Given the description of an element on the screen output the (x, y) to click on. 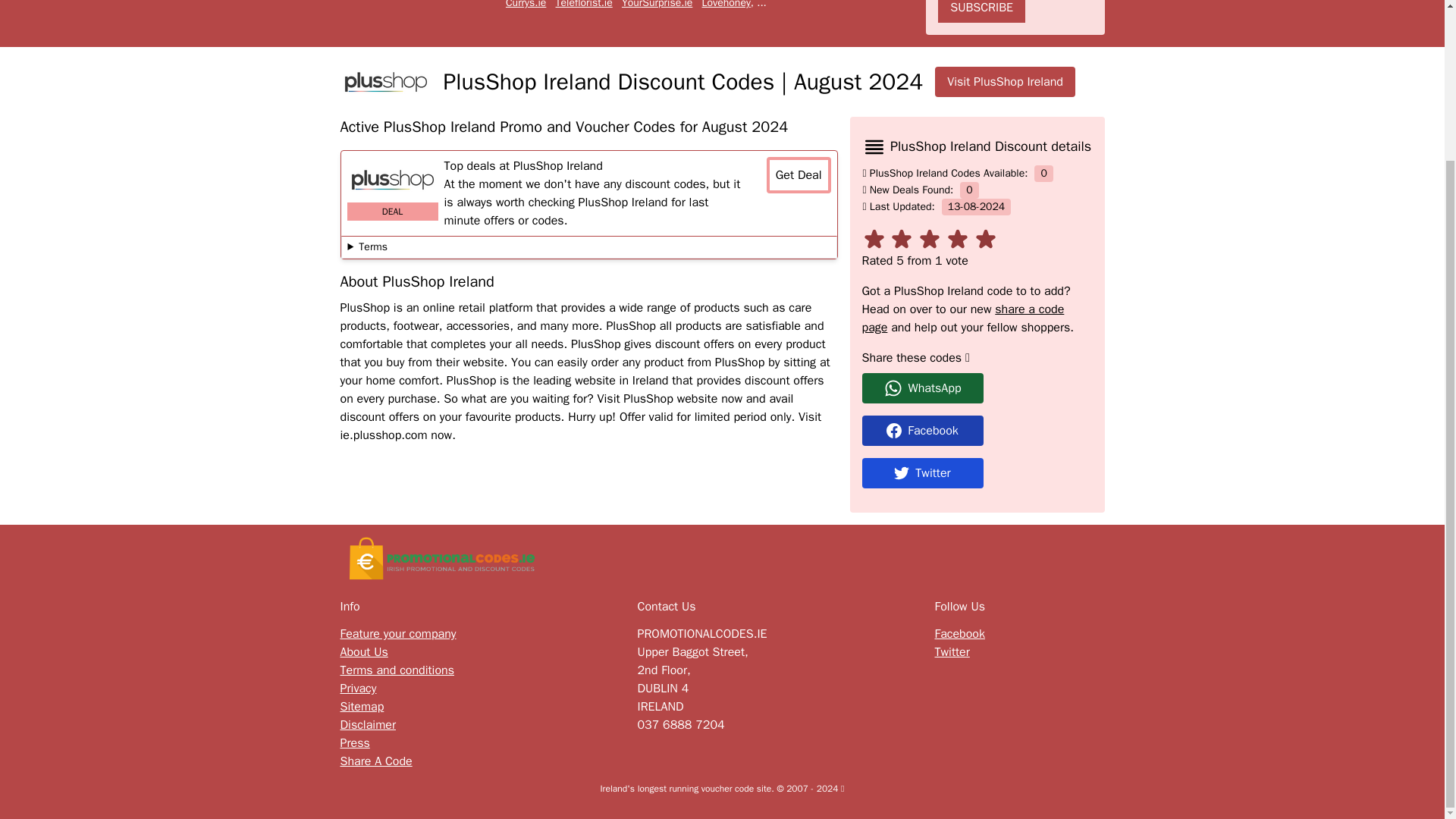
Share on whatsapp (977, 388)
YourSurprise.ie (657, 4)
About Us (363, 651)
Facebook (977, 430)
Share A Code (375, 761)
Privacy (357, 688)
Lovehoney (726, 4)
Twitter (922, 472)
Twitter (951, 651)
Share on Twitter (977, 472)
